Given the description of an element on the screen output the (x, y) to click on. 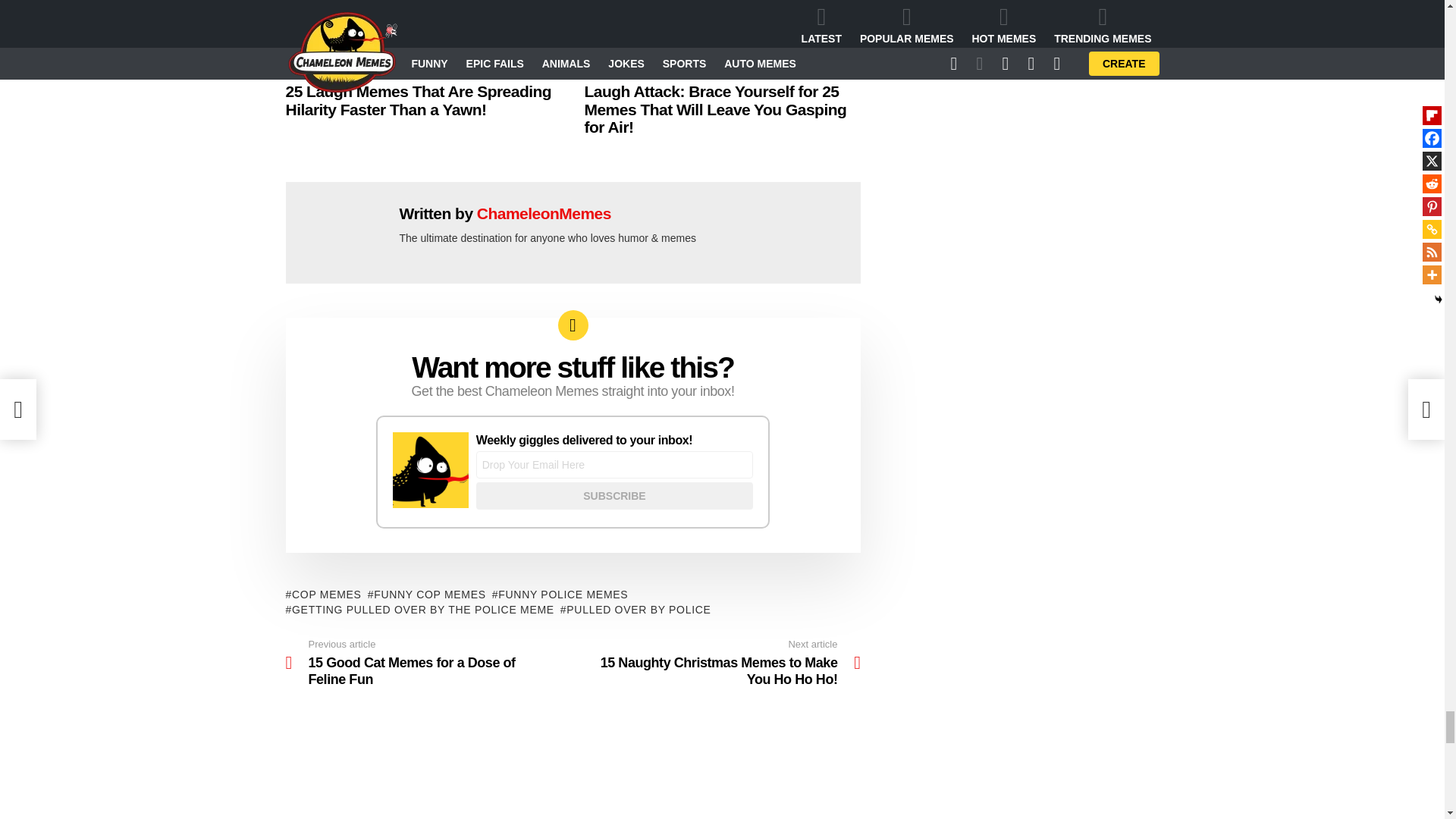
Subscribe (615, 495)
